Given the description of an element on the screen output the (x, y) to click on. 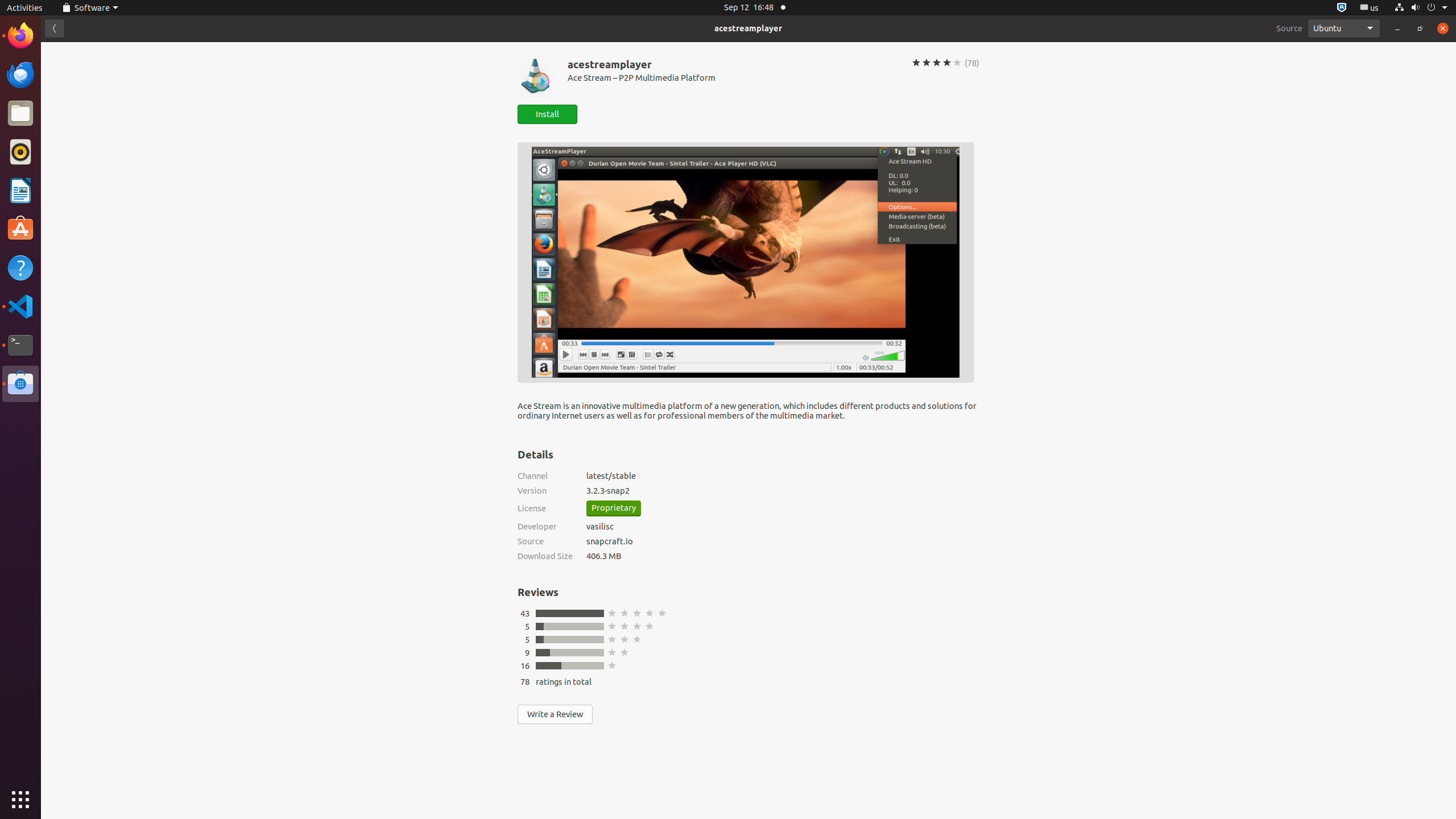
ratings in total Element type: label (563, 681)
16 Element type: label (524, 665)
Reviews Element type: label (537, 591)
Minimize Element type: push-button (1397, 27)
